Given the description of an element on the screen output the (x, y) to click on. 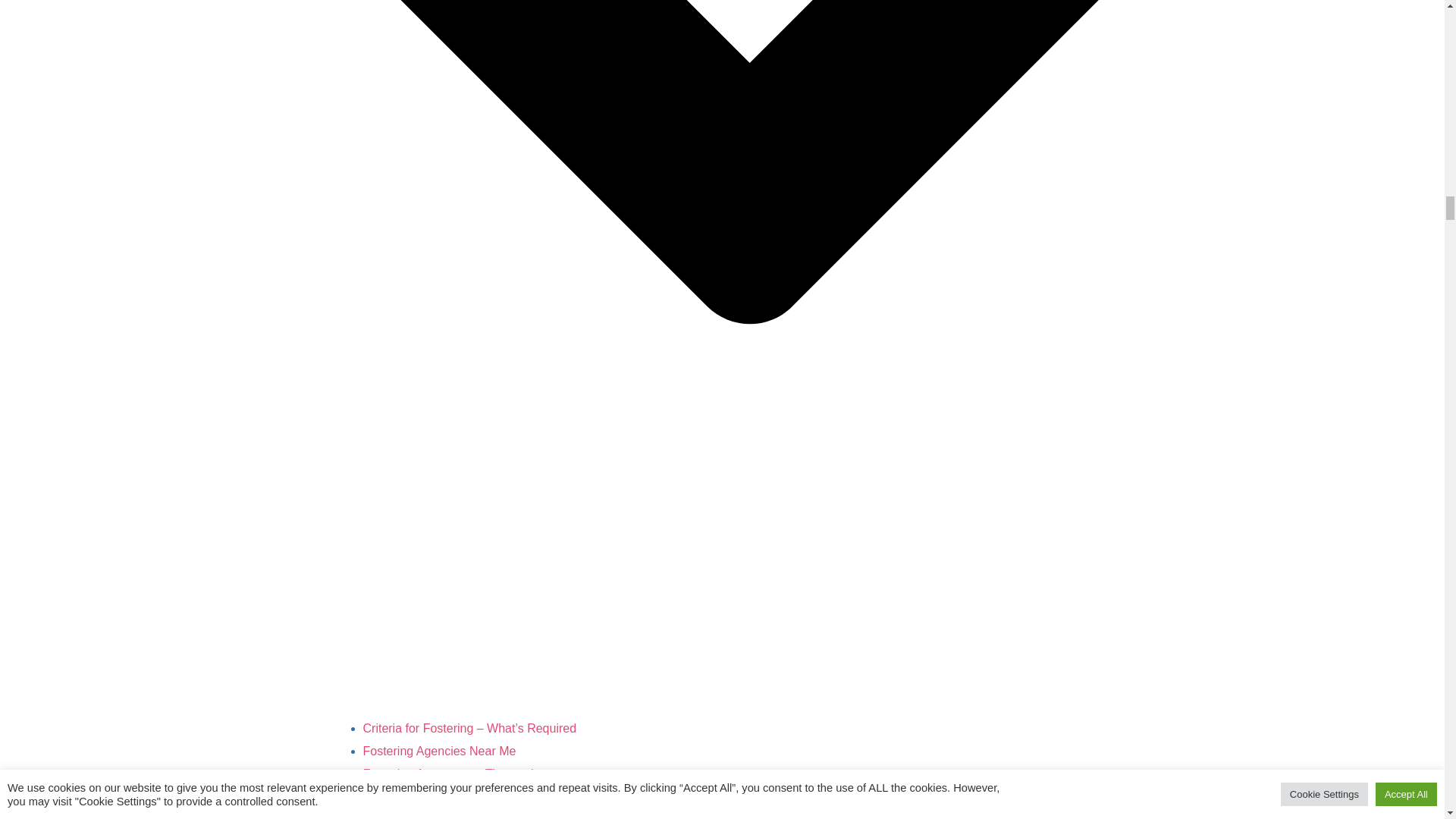
Fostering Panel (404, 815)
Fostering Assessment Timescale (451, 773)
Fostering Agencies Near Me (438, 750)
Can A Foster Child Share A Bedroom? Requirements (504, 795)
